Given the description of an element on the screen output the (x, y) to click on. 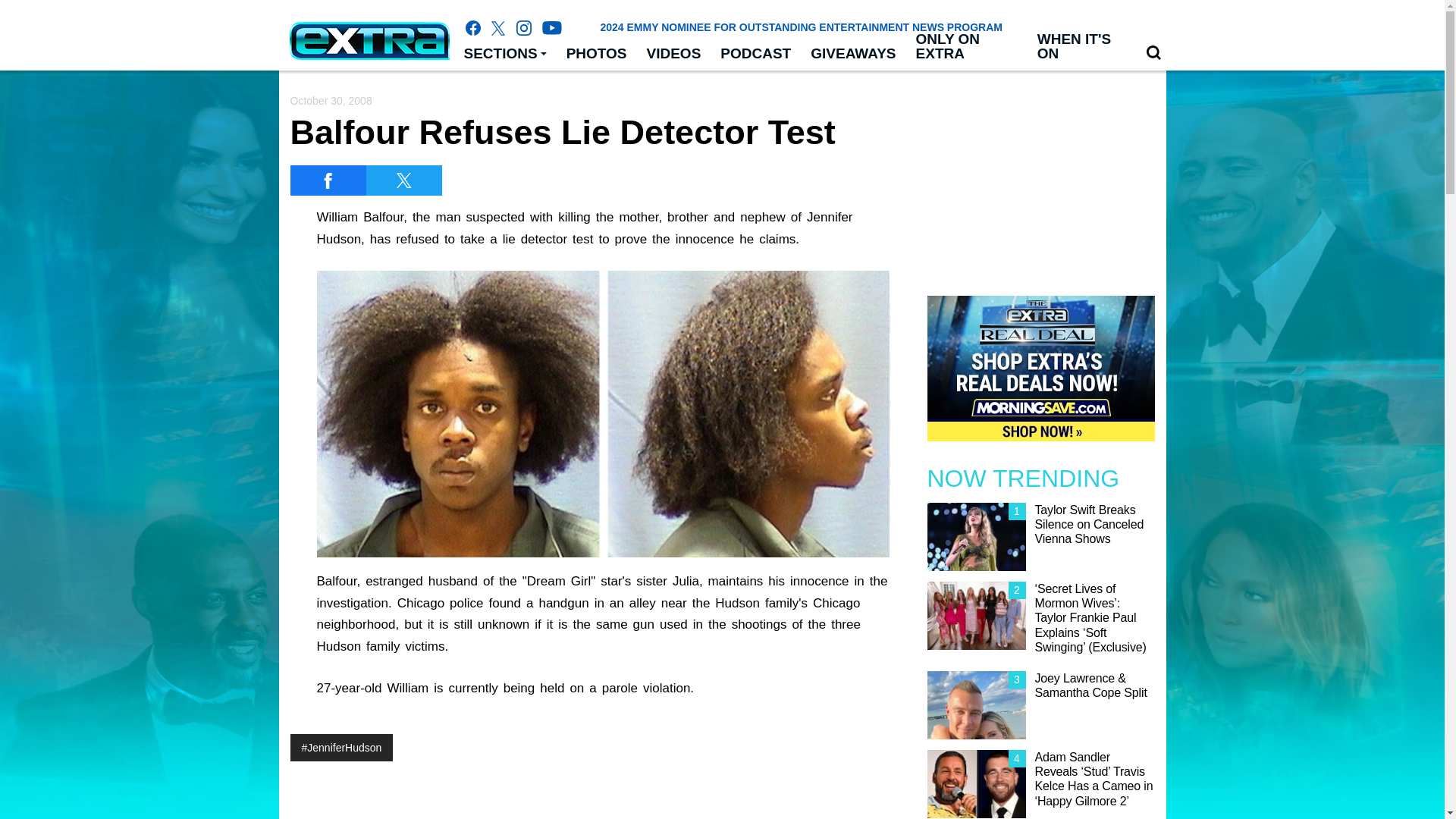
3rd party ad content (721, 785)
GIVEAWAYS (852, 54)
ONLY ON EXTRA (966, 47)
SECTIONS (504, 54)
Search (1153, 53)
VIDEOS (674, 54)
PODCAST (755, 54)
PHOTOS (596, 54)
WHEN IT'S ON (1080, 47)
3rd party ad content (1040, 176)
